Given the description of an element on the screen output the (x, y) to click on. 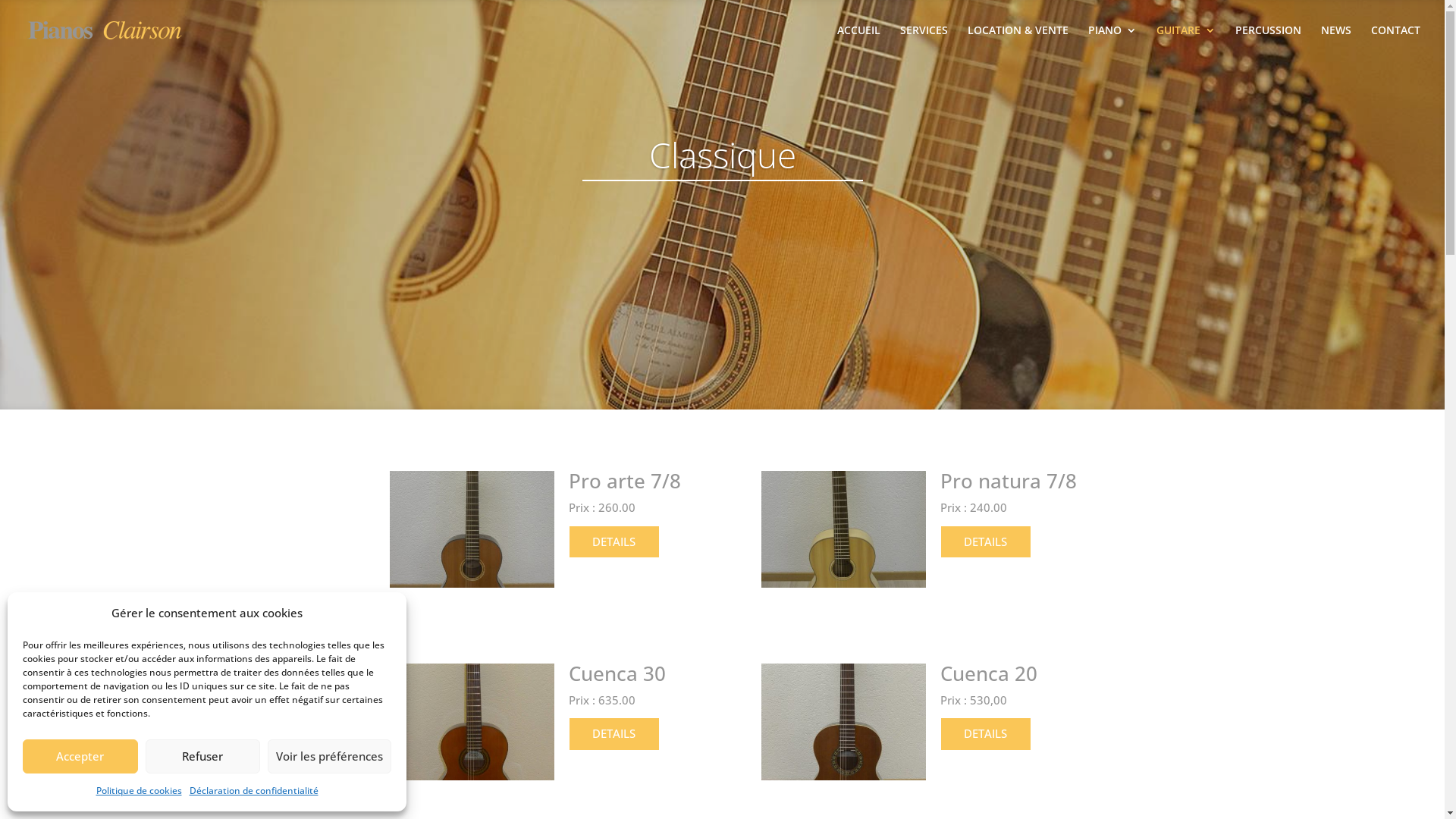
NEWS Element type: text (1336, 42)
DETAILS Element type: text (985, 541)
ACCUEIL Element type: text (858, 42)
Refuser Element type: text (202, 755)
Pro natura 7/8 Element type: text (1008, 480)
GUITARE Element type: text (1185, 42)
DETAILS Element type: text (985, 733)
Pro arte 7/8 Element type: text (624, 480)
SERVICES Element type: text (923, 42)
CONTACT Element type: text (1395, 42)
Accepter Element type: text (80, 755)
PERCUSSION Element type: text (1268, 42)
DETAILS Element type: text (613, 541)
Politique de cookies Element type: text (138, 790)
Cuenca 20 Element type: text (988, 673)
LOCATION & VENTE Element type: text (1017, 42)
DETAILS Element type: text (613, 733)
Cuenca 30 Element type: text (616, 673)
PIANO Element type: text (1112, 42)
